Given the description of an element on the screen output the (x, y) to click on. 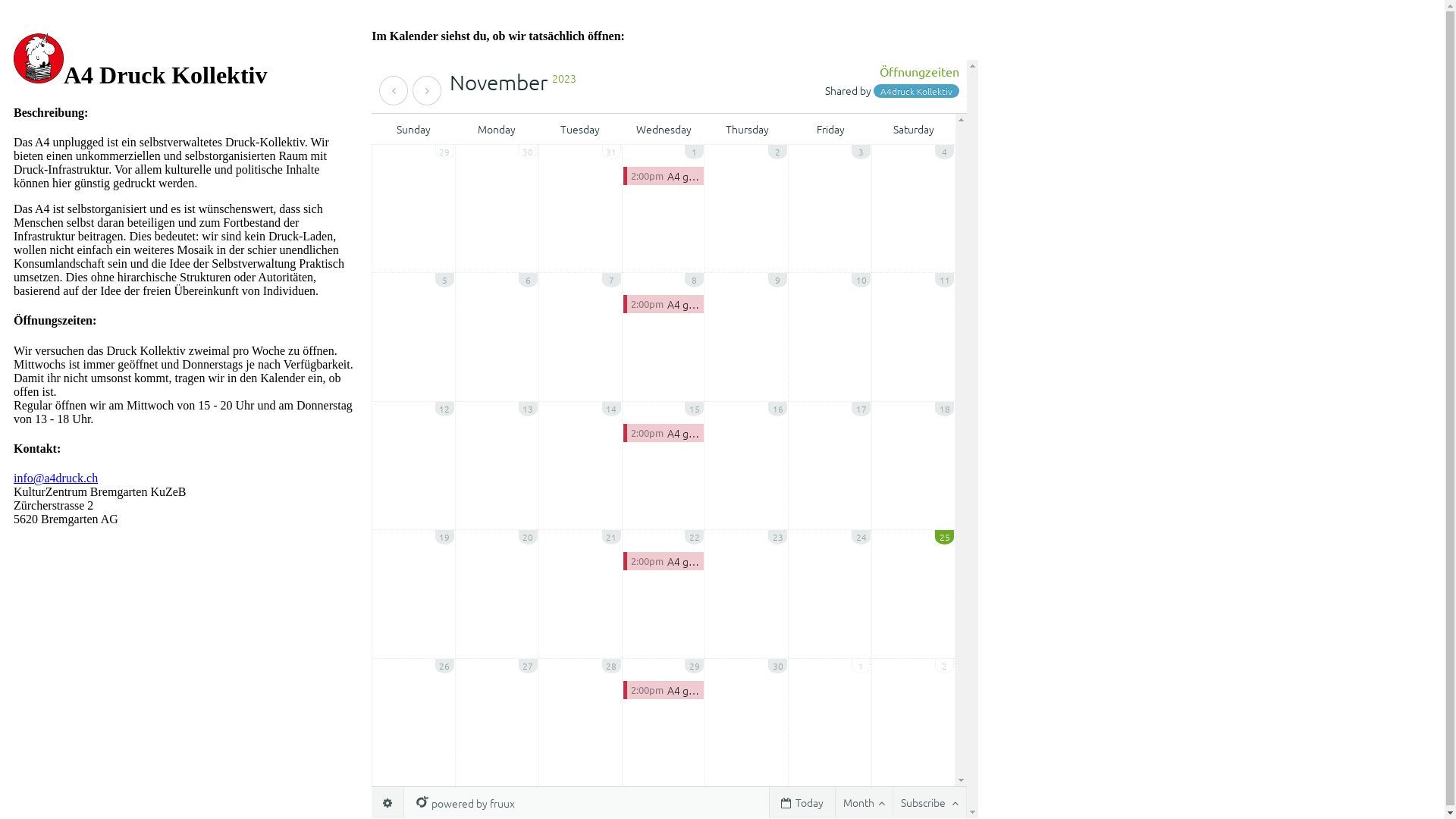
info@a4druck.ch Element type: text (55, 477)
